Given the description of an element on the screen output the (x, y) to click on. 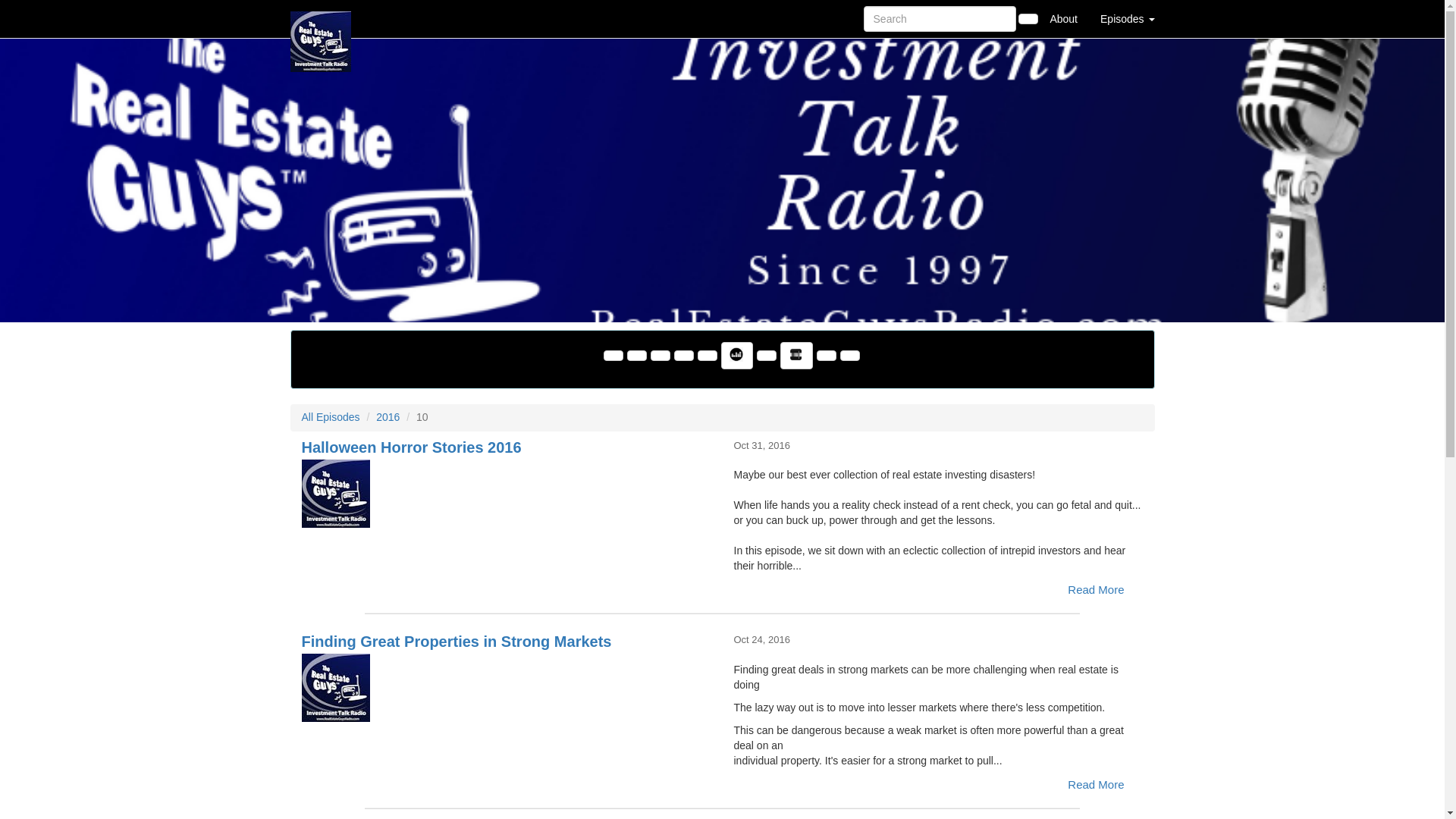
About (1063, 18)
Home Page (320, 18)
Halloween Horror Stories 2016 (506, 493)
Finding Great Properties in Strong Markets (506, 687)
Episodes (1127, 18)
